Given the description of an element on the screen output the (x, y) to click on. 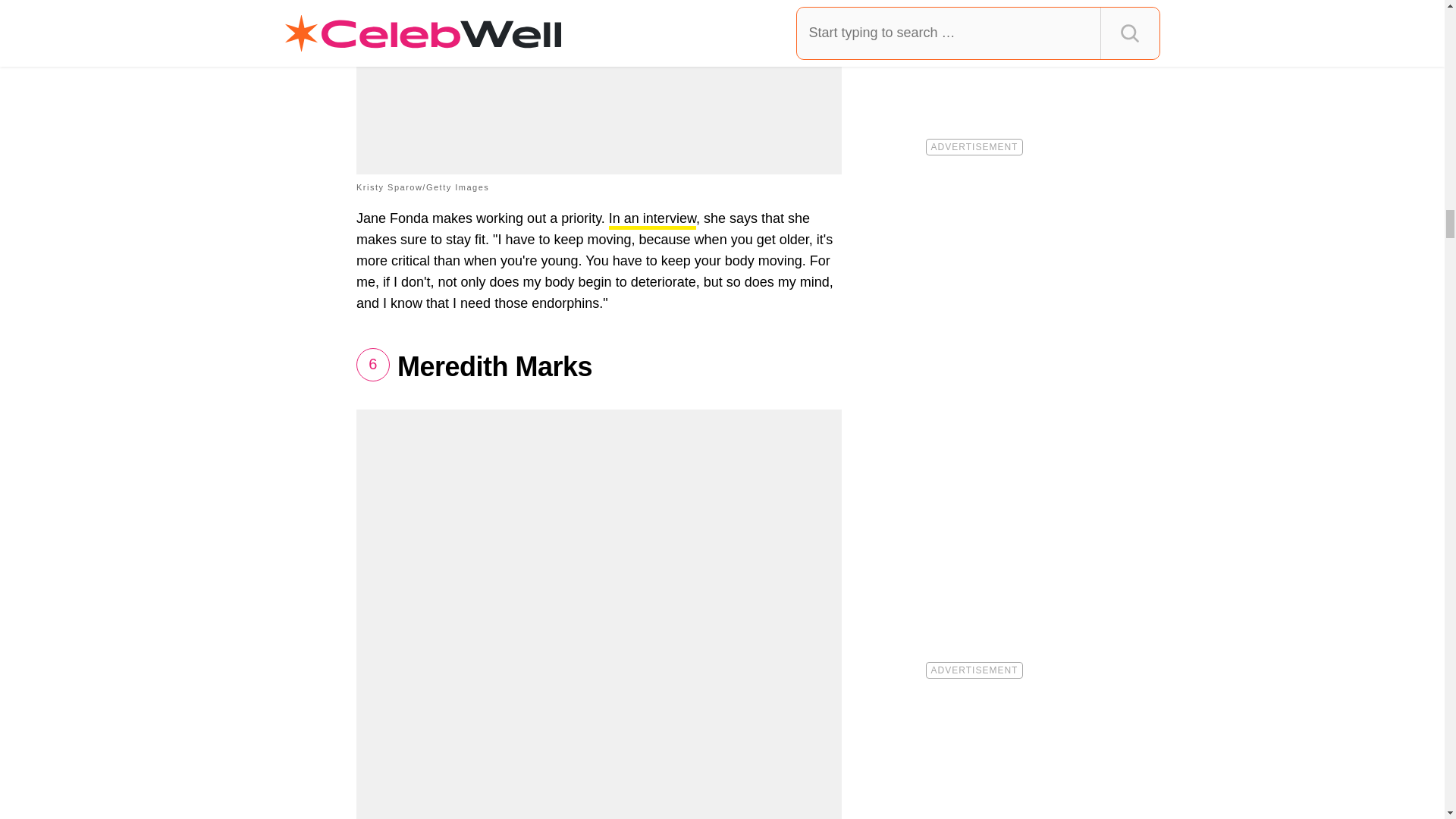
In an interview (651, 220)
